Given the description of an element on the screen output the (x, y) to click on. 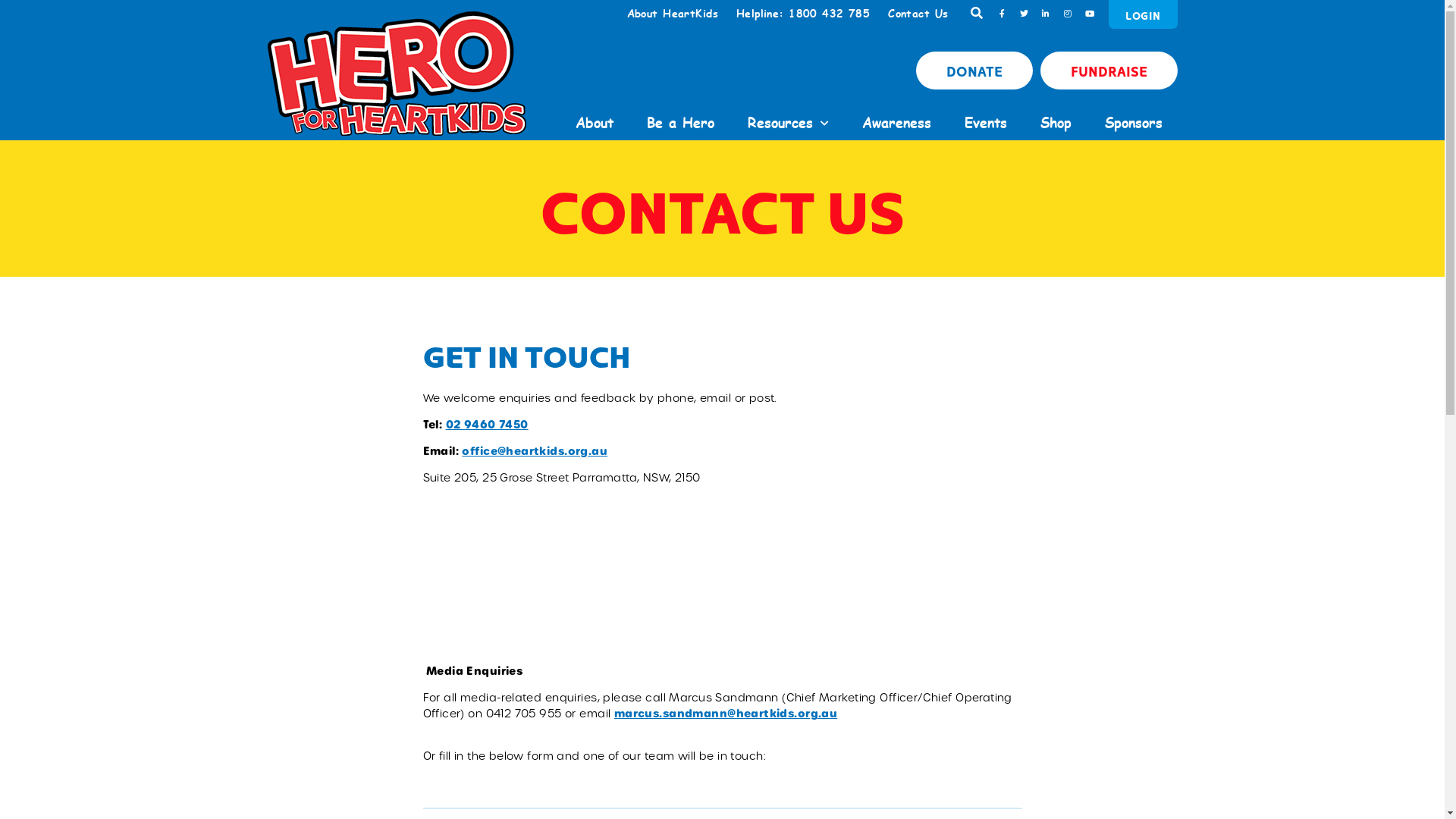
About Element type: text (593, 122)
marcus.sandmann@heartkids.org.au Element type: text (725, 713)
Be a Hero Element type: text (679, 122)
Helpline: 1800 432 785 Element type: text (802, 13)
DONATE Element type: text (974, 70)
Events Element type: text (985, 122)
FUNDRAISE Element type: text (1108, 70)
Awareness Element type: text (895, 122)
02 9460 7450 Element type: text (486, 424)
office@heartkids.org.au Element type: text (534, 450)
Contact Us Element type: text (917, 13)
LOGIN Element type: text (1142, 14)
About HeartKids Element type: text (672, 13)
Sponsors Element type: text (1132, 122)
Shop Element type: text (1055, 122)
Resources Element type: text (788, 122)
